Given the description of an element on the screen output the (x, y) to click on. 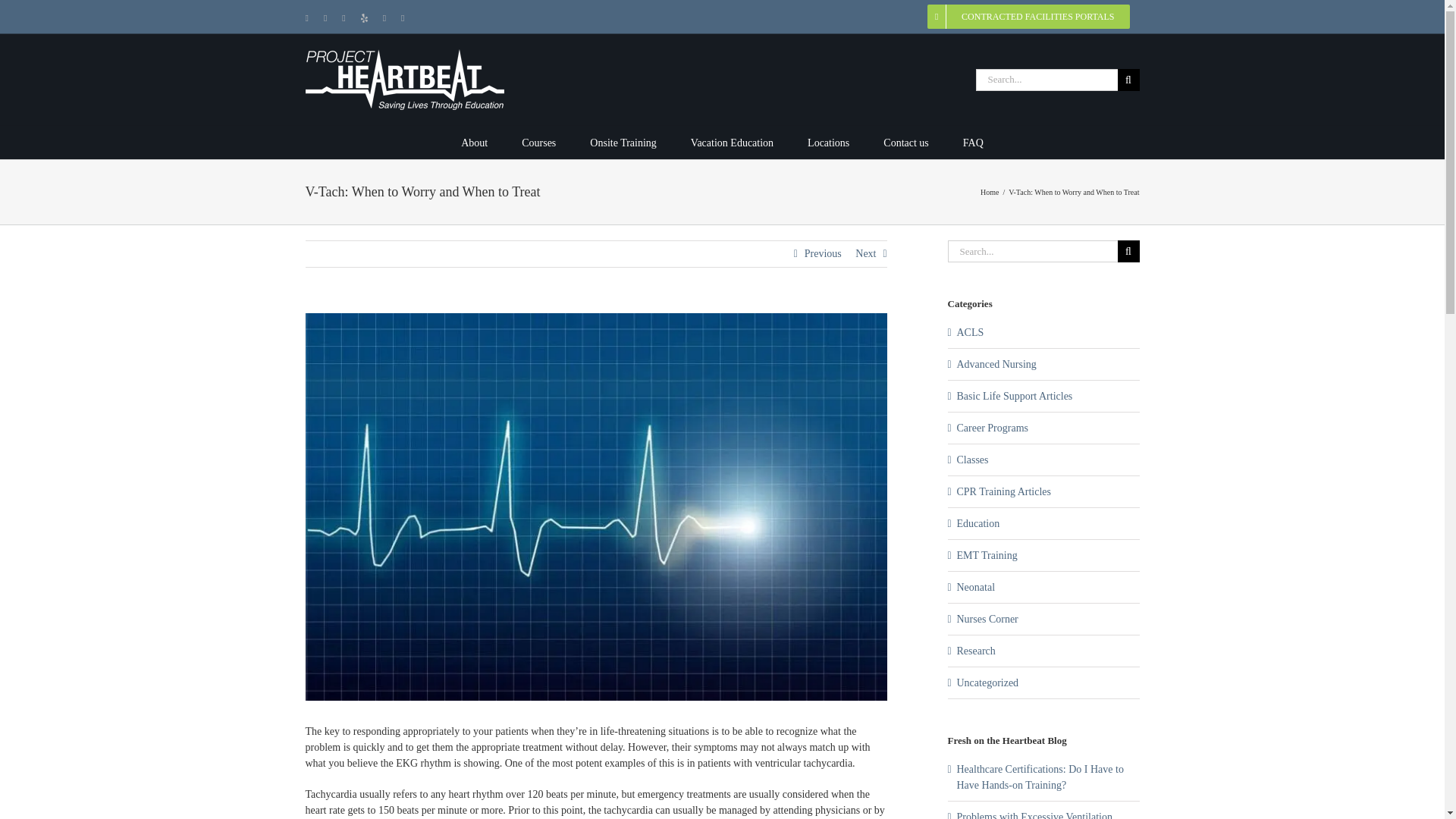
CONTRACTED FACILITIES PORTALS (1027, 16)
Courses (538, 142)
Yelp (364, 17)
About (474, 142)
